Given the description of an element on the screen output the (x, y) to click on. 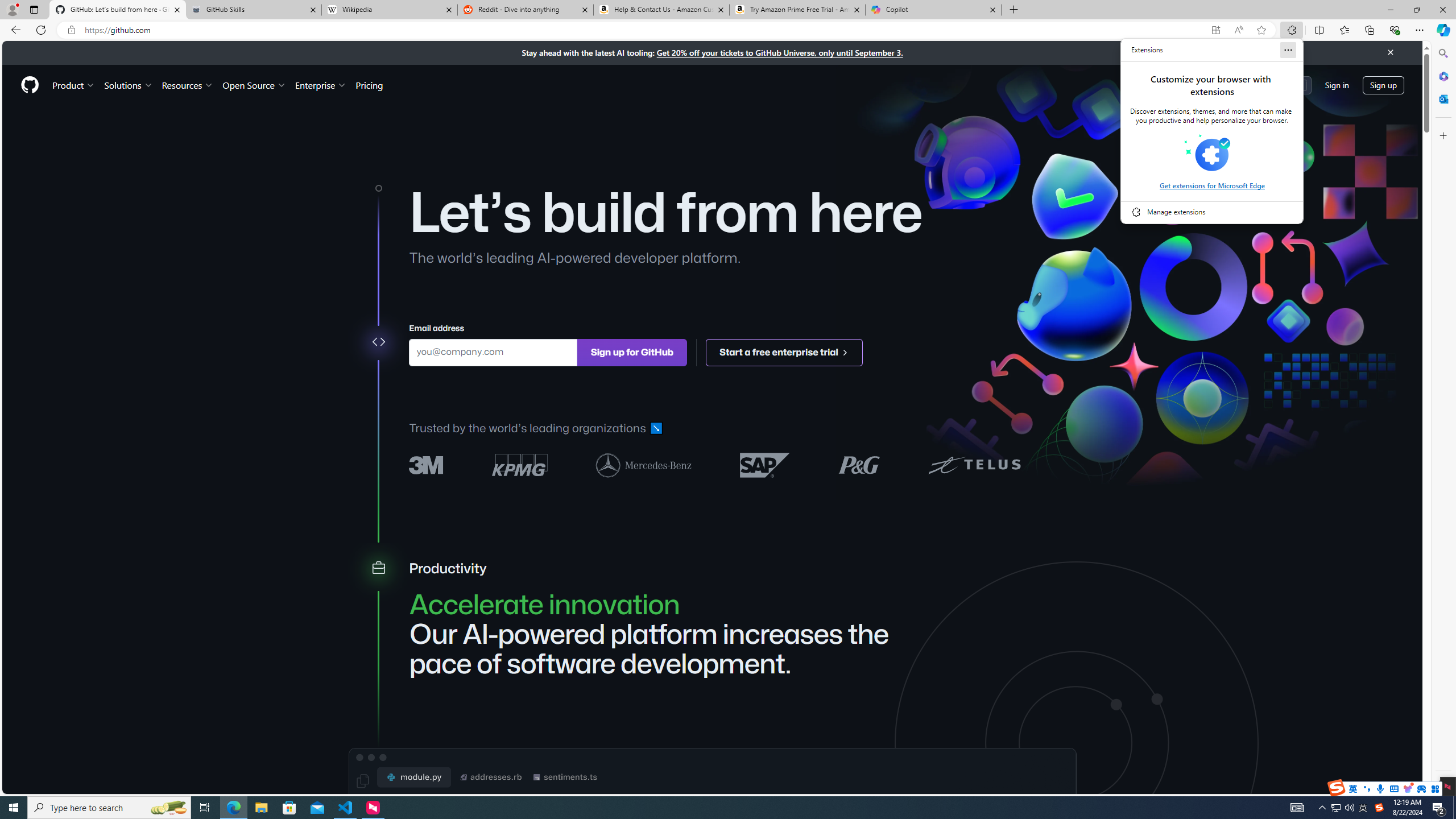
Extensions (1146, 49)
Start (13, 807)
Tray Input Indicator - Chinese (Simplified, China) (1378, 807)
Running applications (707, 807)
Action Center, 2 new notifications (1439, 807)
AutomationID: 4105 (1297, 807)
Type here to search (108, 807)
Task View (204, 807)
User Promoted Notification Area (1342, 807)
Show desktop (1454, 807)
Manage extensions (1212, 212)
Microsoft Edge - 1 running window (233, 807)
Notification Chevron (1322, 807)
Search highlights icon opens search home window (167, 807)
